Given the description of an element on the screen output the (x, y) to click on. 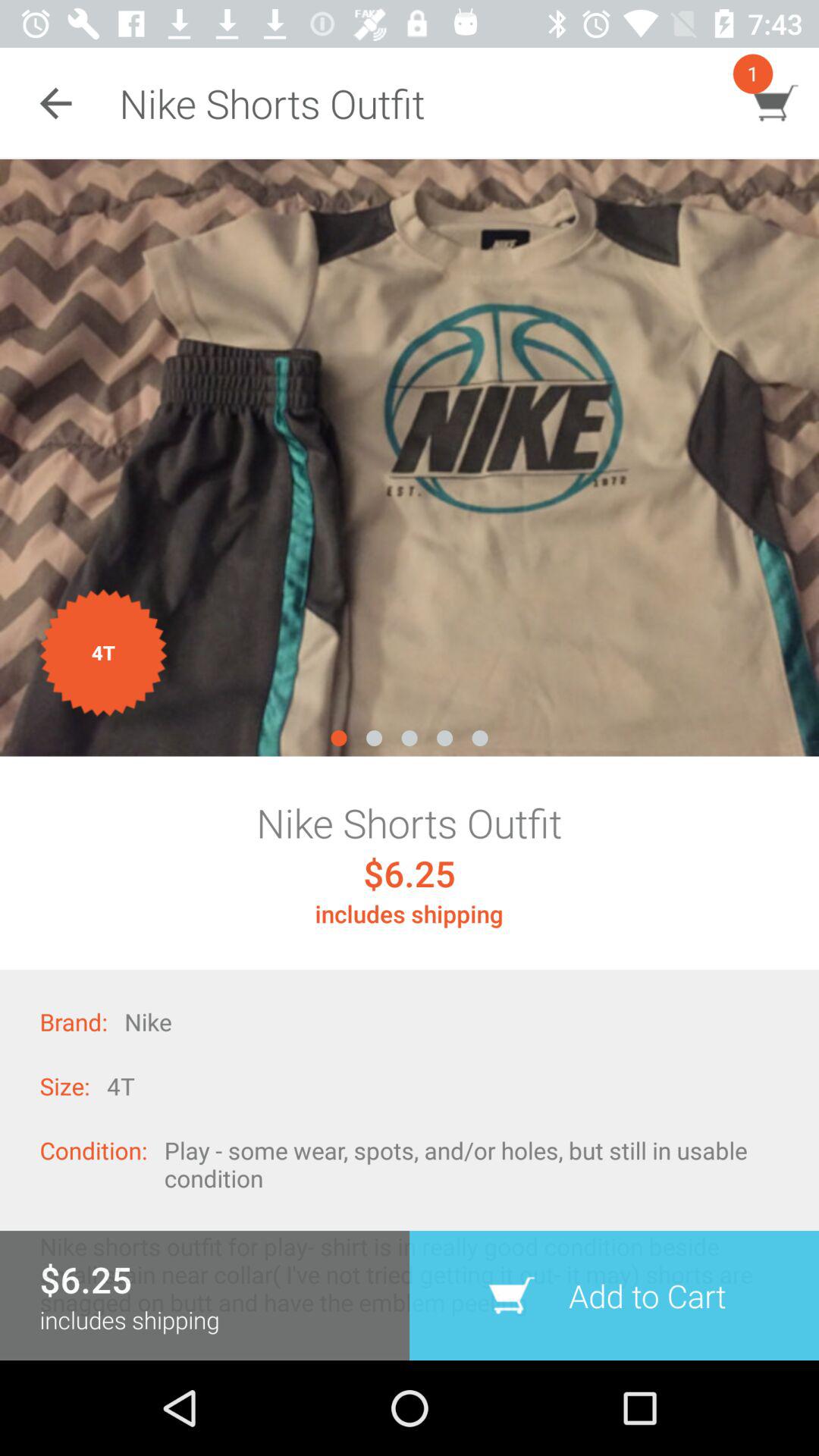
press the icon to the left of the nike shorts outfit (55, 103)
